Given the description of an element on the screen output the (x, y) to click on. 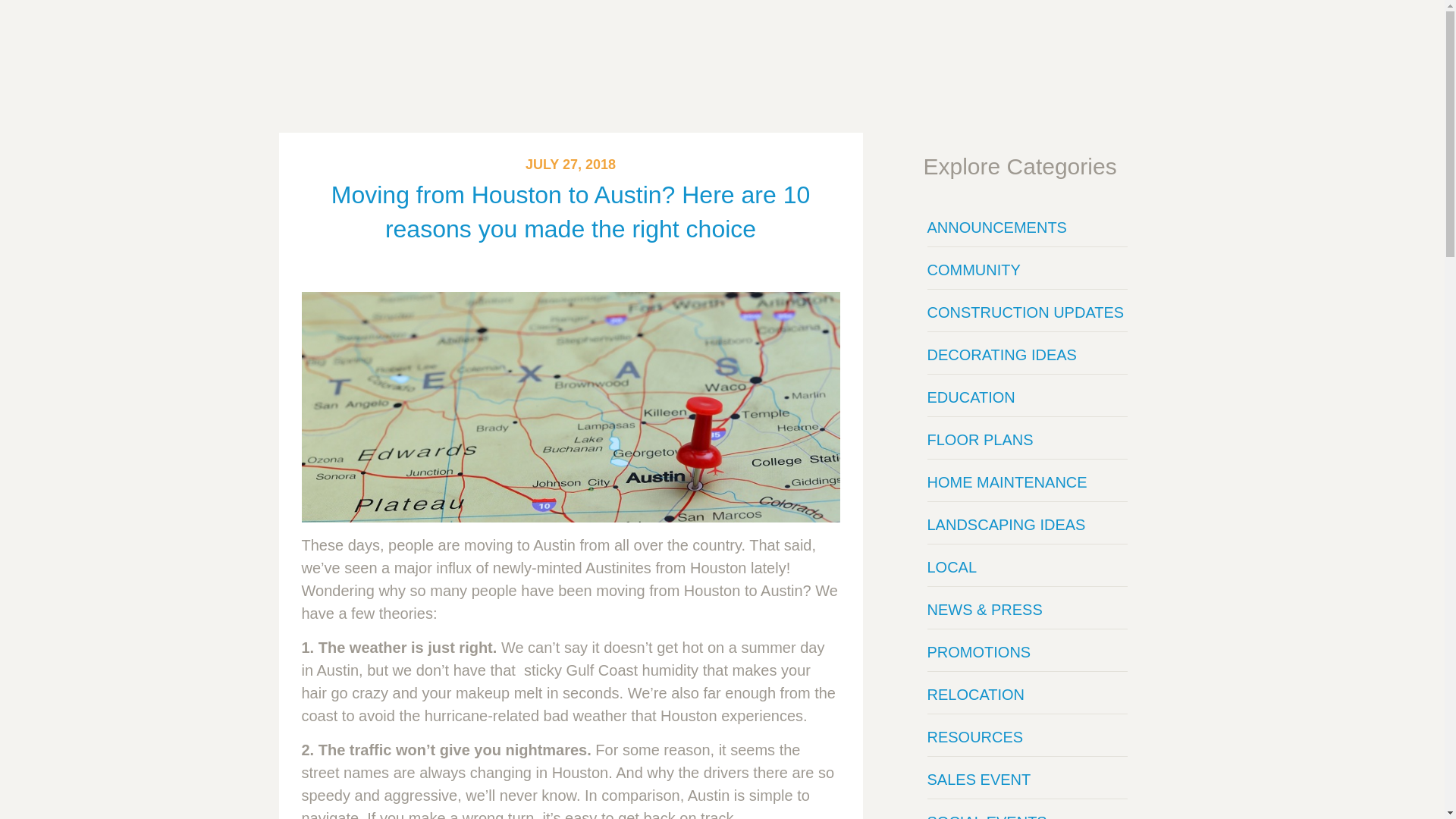
SALES EVENT (1026, 779)
LANDSCAPING IDEAS (1026, 524)
RELOCATION (1026, 694)
RESOURCES (1026, 736)
SOCIAL EVENTS (1026, 811)
PROMOTIONS (1026, 651)
COMMUNITY (1026, 269)
DECORATING IDEAS (1026, 354)
EDUCATION (1026, 397)
